Given the description of an element on the screen output the (x, y) to click on. 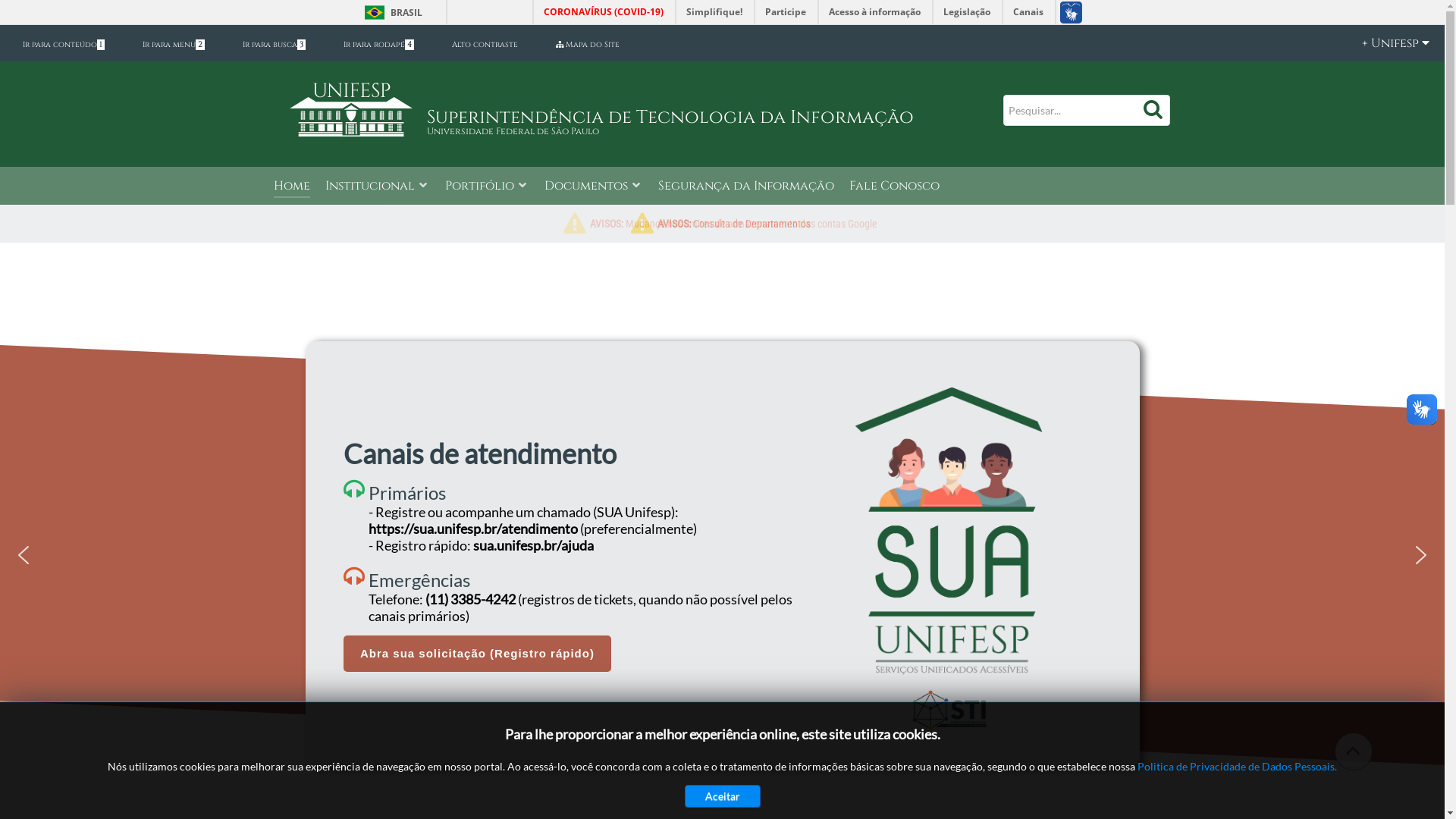
Alto contraste Element type: text (484, 44)
+ Unifesp Element type: text (1387, 43)
Home Element type: text (291, 186)
Institucional Element type: text (376, 186)
Mapa do Site Element type: text (587, 44)
Ir para busca3 Element type: text (273, 44)
AVISOS: Consulta de Departamentos Element type: text (732, 223)
Back to top Element type: hover (1353, 751)
Ir para menu2 Element type: text (173, 44)
Documentos Element type: text (593, 186)
sua.unifesp.br/ajuda Element type: text (533, 544)
Politica de Privacidade de Dados Pessoais. Element type: text (1236, 765)
Fale Conosco Element type: text (894, 186)
BRASIL Element type: text (389, 12)
https://sua.unifesp.br/atendimento Element type: text (472, 528)
